Given the description of an element on the screen output the (x, y) to click on. 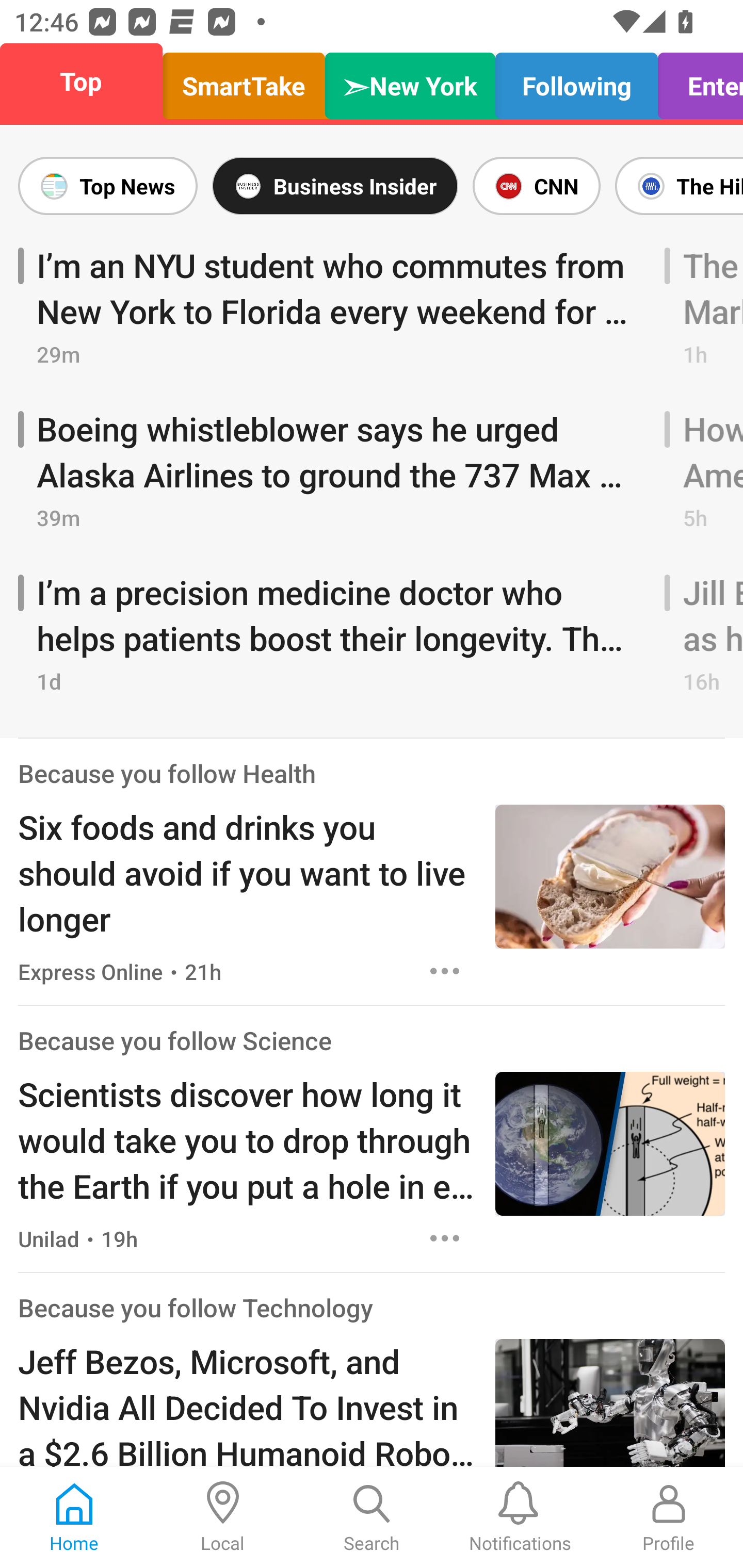
Top (86, 81)
SmartTake (243, 81)
➣New York (409, 81)
Following (576, 81)
Top News (111, 185)
CNN (536, 185)
Because you follow Health (166, 772)
Options (444, 971)
Because you follow Science (174, 1039)
Options (444, 1238)
Because you follow Technology (195, 1307)
Local (222, 1517)
Search (371, 1517)
Notifications (519, 1517)
Profile (668, 1517)
